Given the description of an element on the screen output the (x, y) to click on. 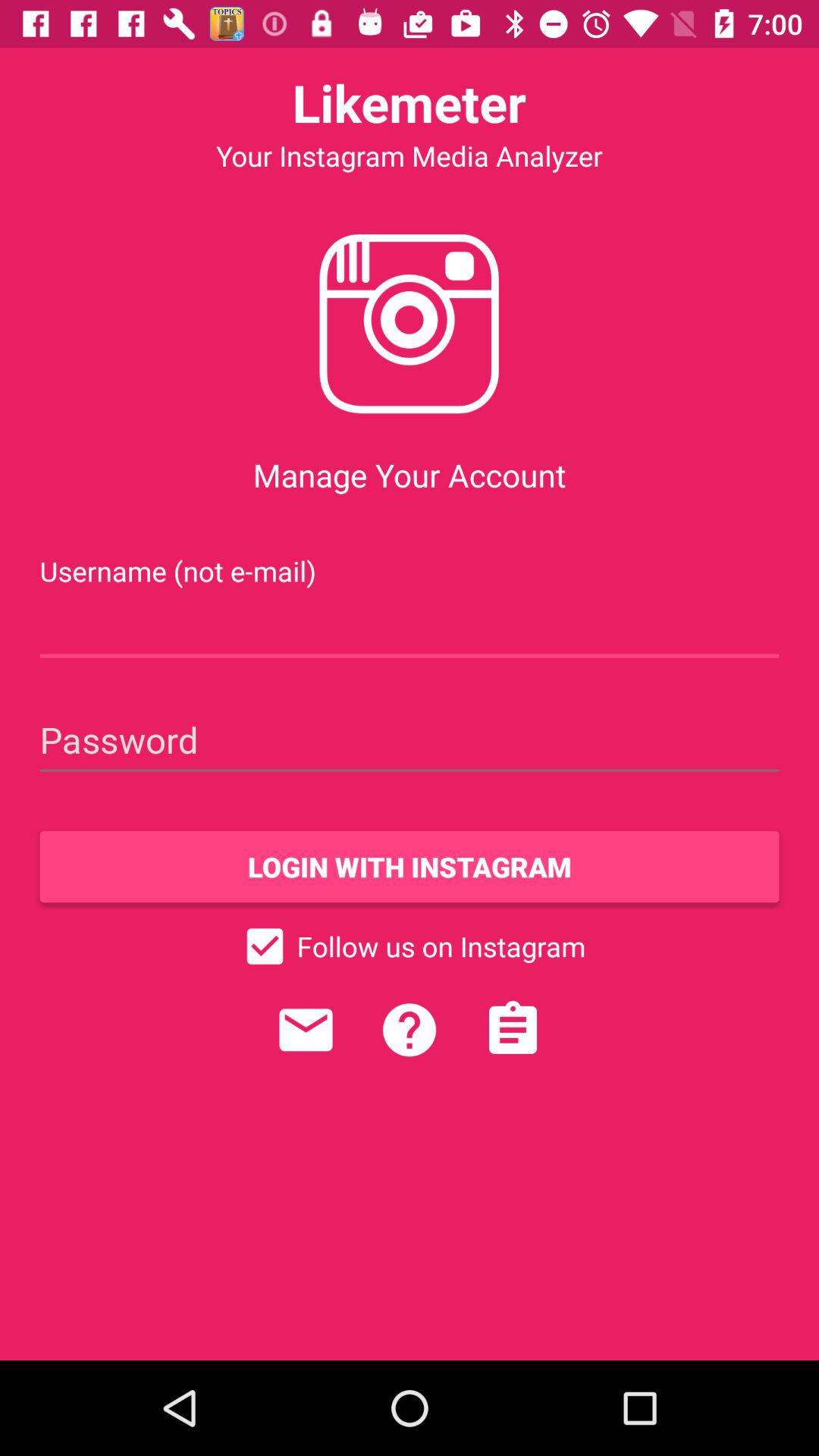
enter username (409, 626)
